Given the description of an element on the screen output the (x, y) to click on. 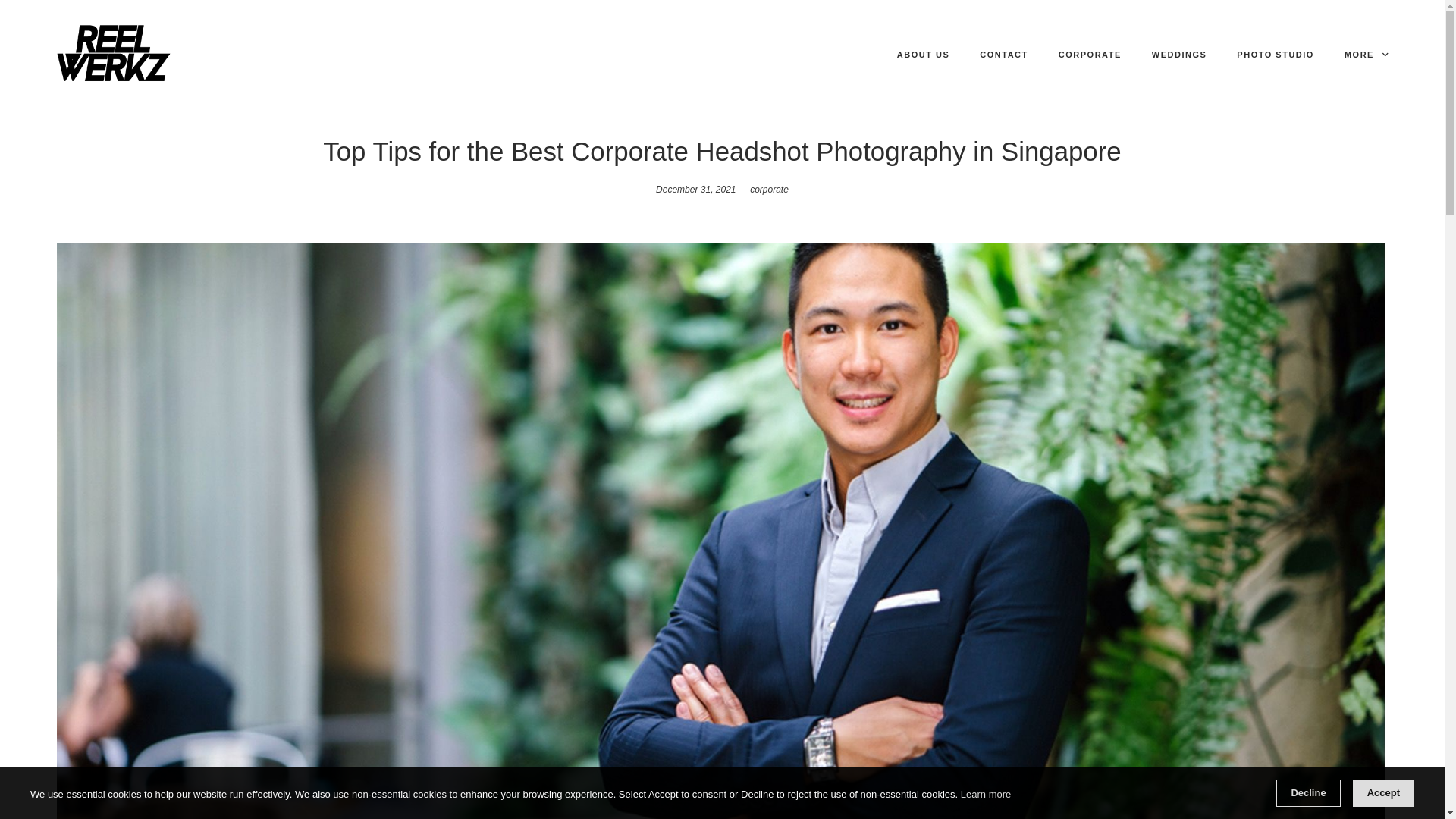
MORE (1365, 54)
WEDDINGS (1179, 54)
Decline (1307, 792)
Accept (1382, 792)
Learn more (985, 793)
PHOTO STUDIO (1275, 54)
corporate (769, 189)
CONTACT (1003, 54)
CORPORATE (1090, 54)
ABOUT US (922, 54)
